Given the description of an element on the screen output the (x, y) to click on. 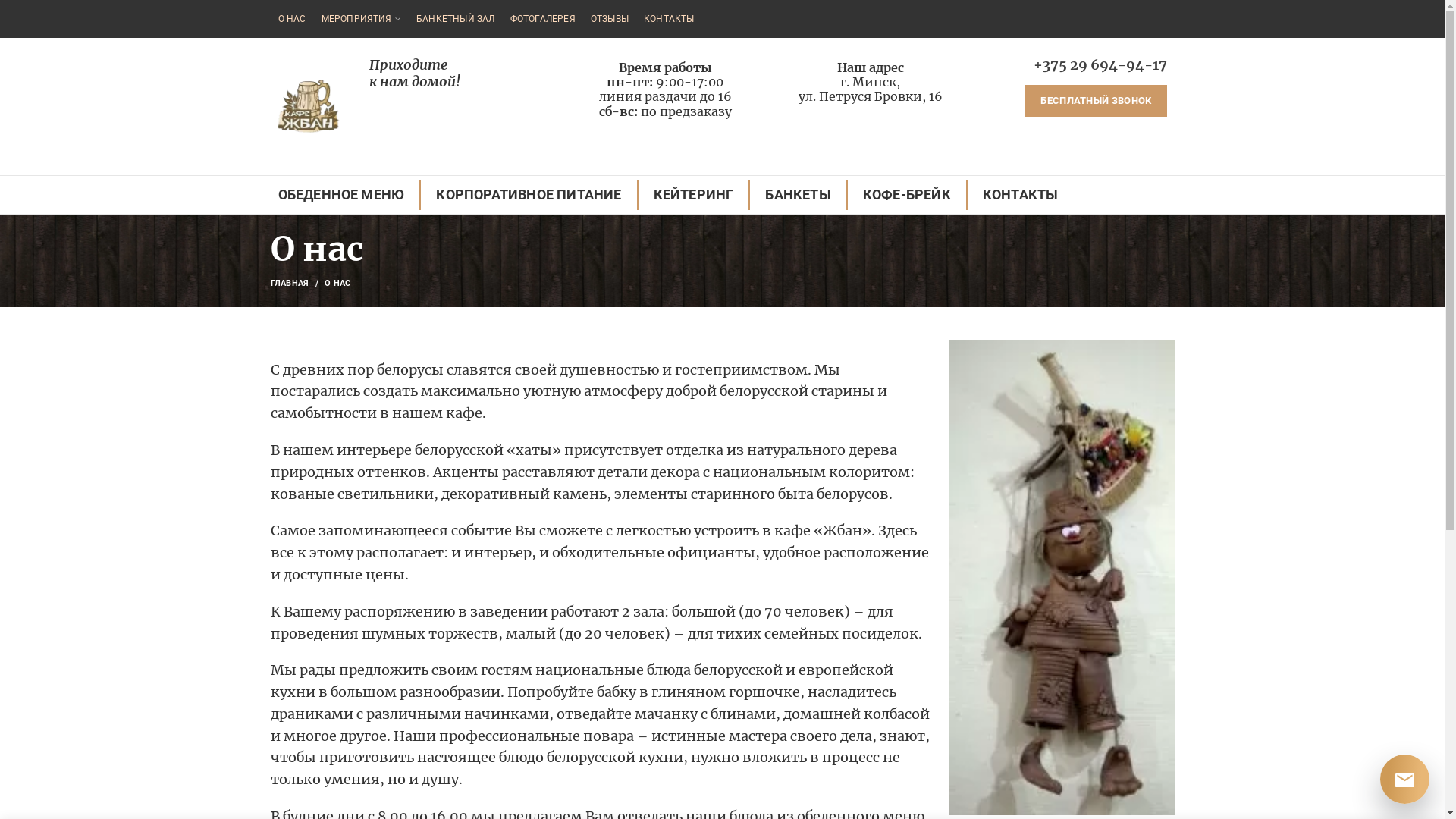
+375 29 694-94-17 Element type: text (1099, 64)
